Given the description of an element on the screen output the (x, y) to click on. 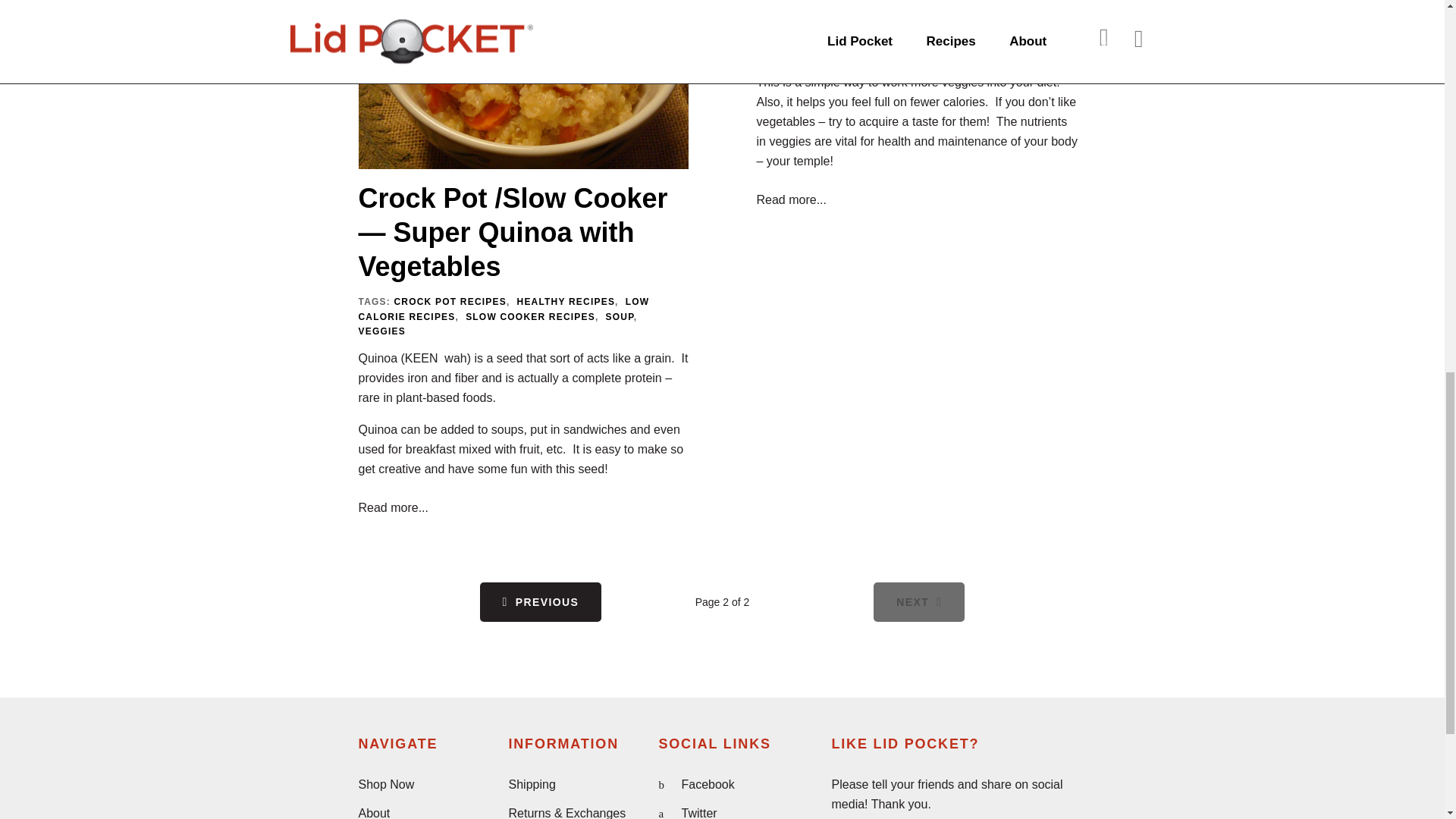
HEALTHY RECIPES (565, 301)
VEGGIES (381, 330)
SLOW COOKER RECIPES (530, 317)
Read more... (393, 507)
CROCK POT RECIPES (449, 301)
SOUP (619, 317)
LOW CALORIE RECIPES (503, 309)
